Given the description of an element on the screen output the (x, y) to click on. 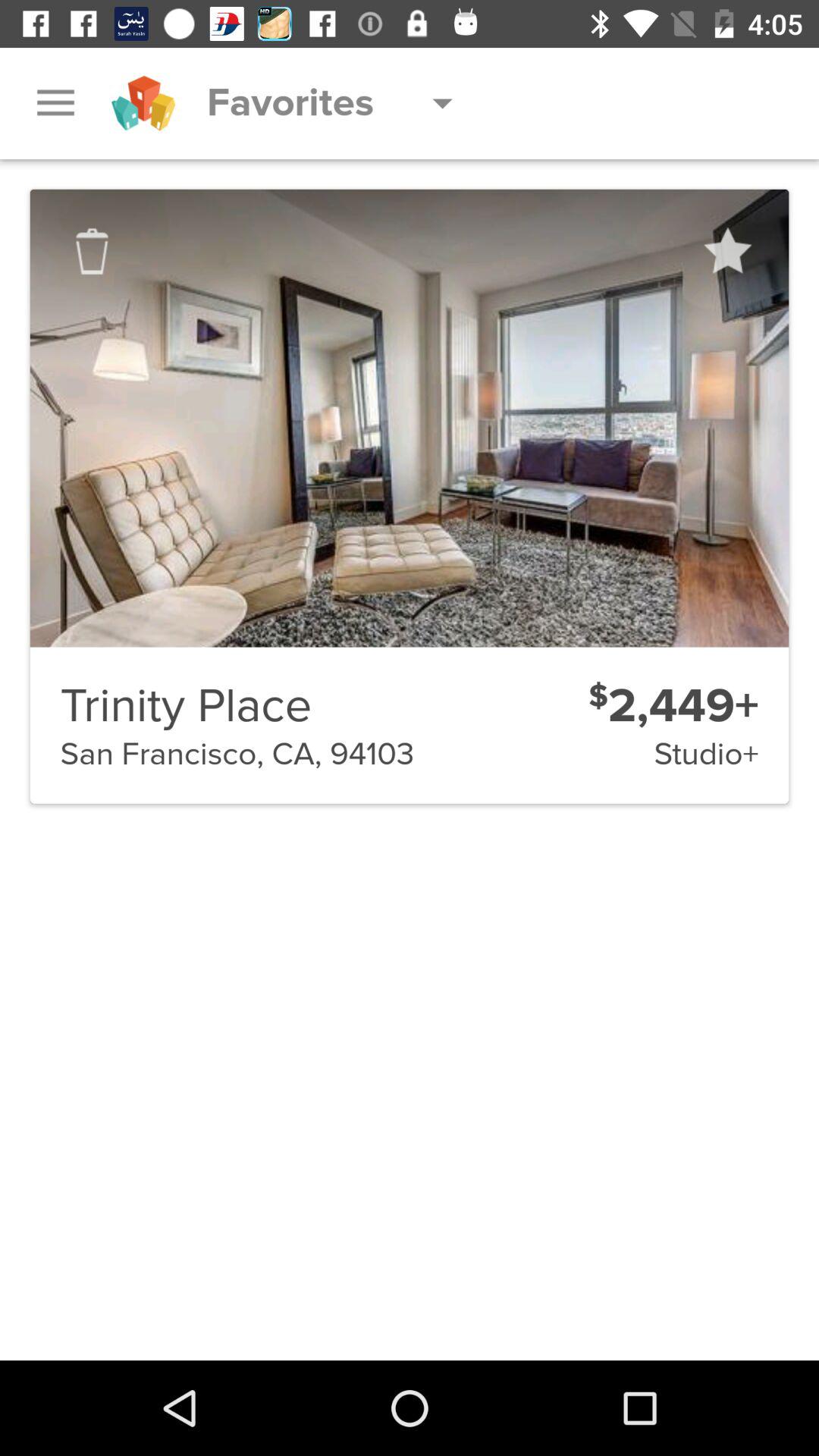
select star icon to favorite (726, 251)
